Given the description of an element on the screen output the (x, y) to click on. 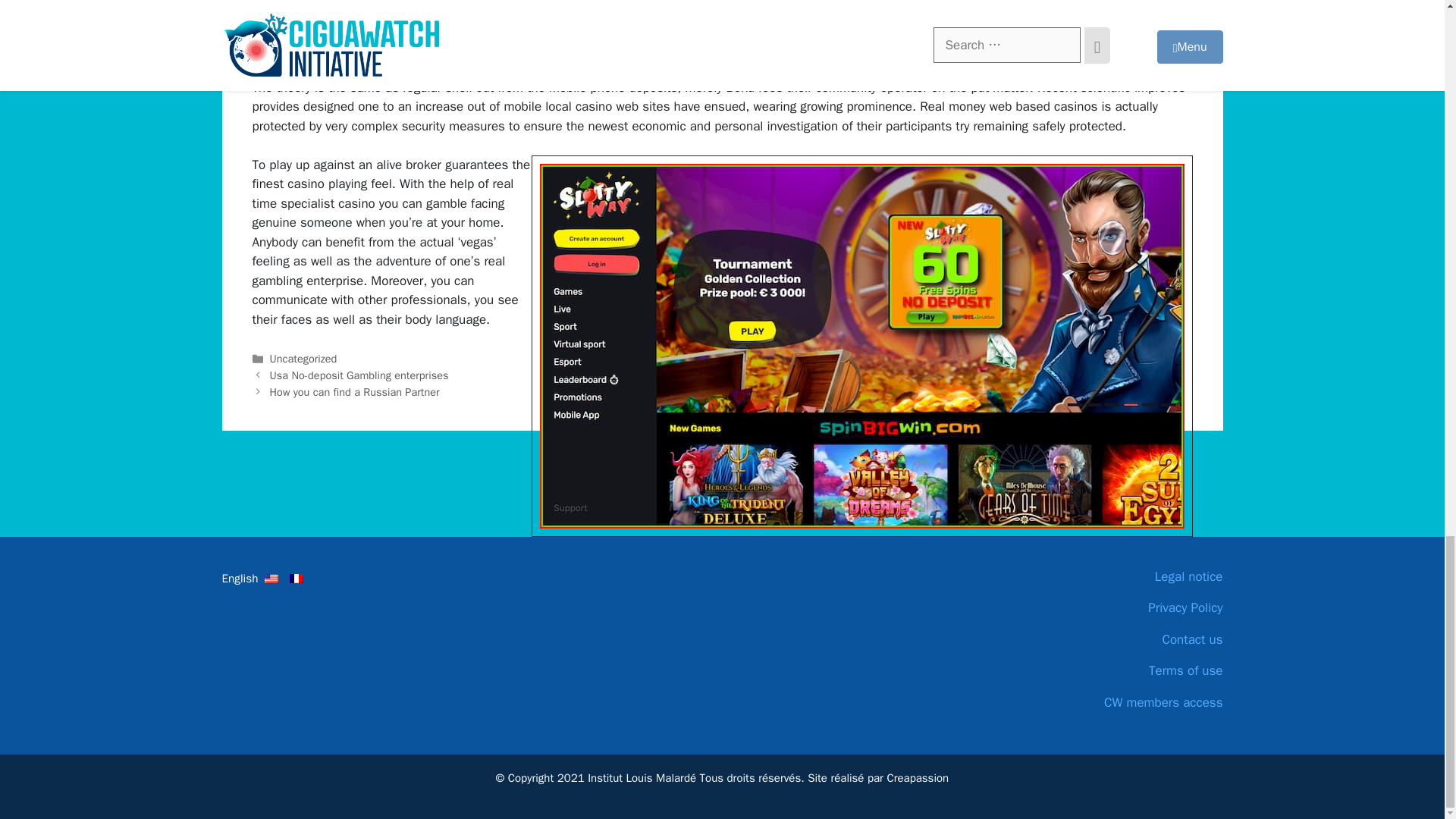
CW members access (1108, 702)
Usa No-deposit Gambling enterprises (358, 375)
Creapassion (917, 777)
Contact us (1108, 639)
Terms of use (1108, 670)
How you can find a Russian Partner (354, 391)
Previous (358, 375)
Privacy Policy (1108, 608)
Legal notice (1108, 577)
Next (354, 391)
Uncategorized (303, 358)
